Given the description of an element on the screen output the (x, y) to click on. 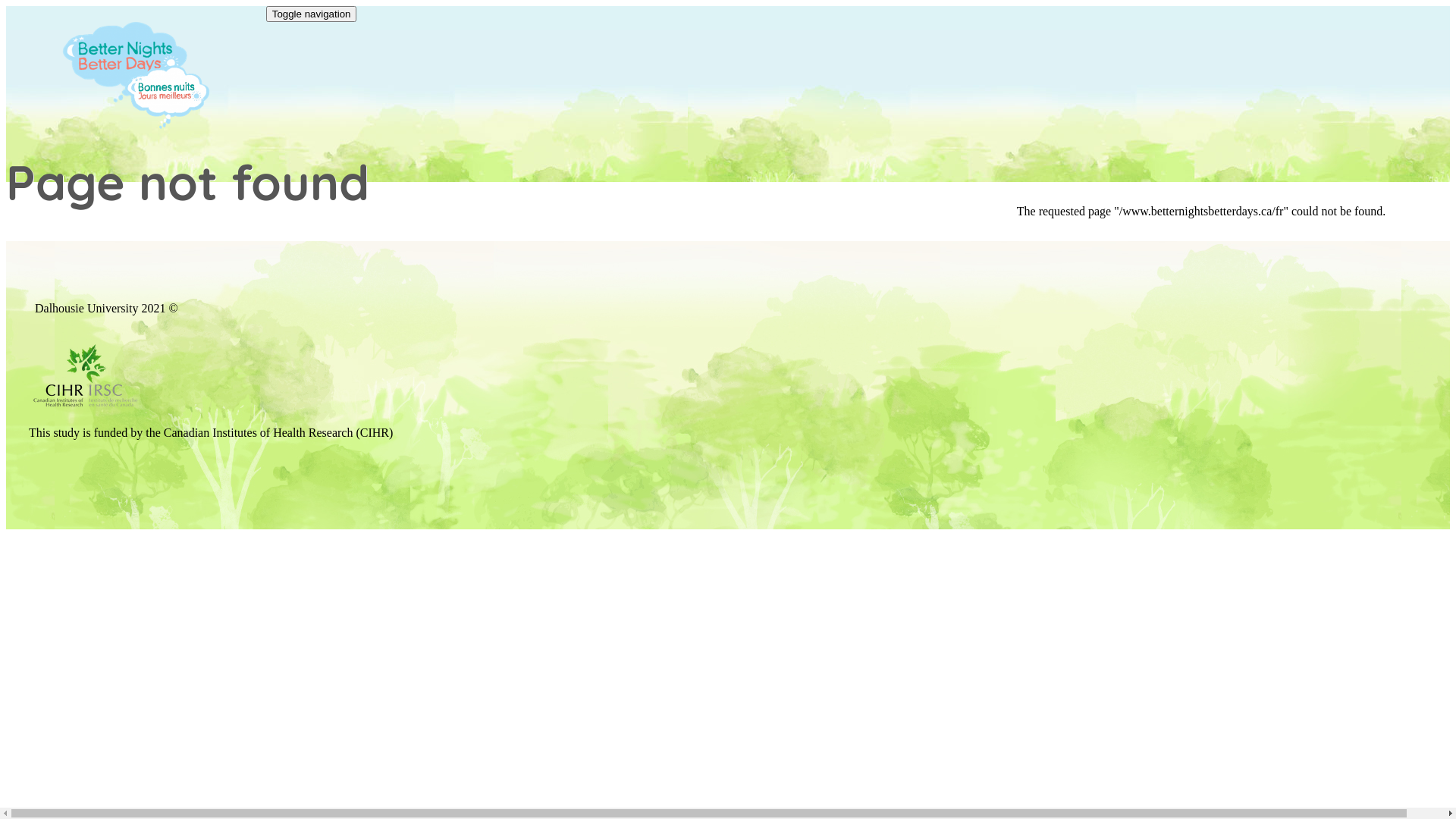
Skip to main content Element type: text (56, 6)
Toggle navigation Element type: text (311, 13)
